Given the description of an element on the screen output the (x, y) to click on. 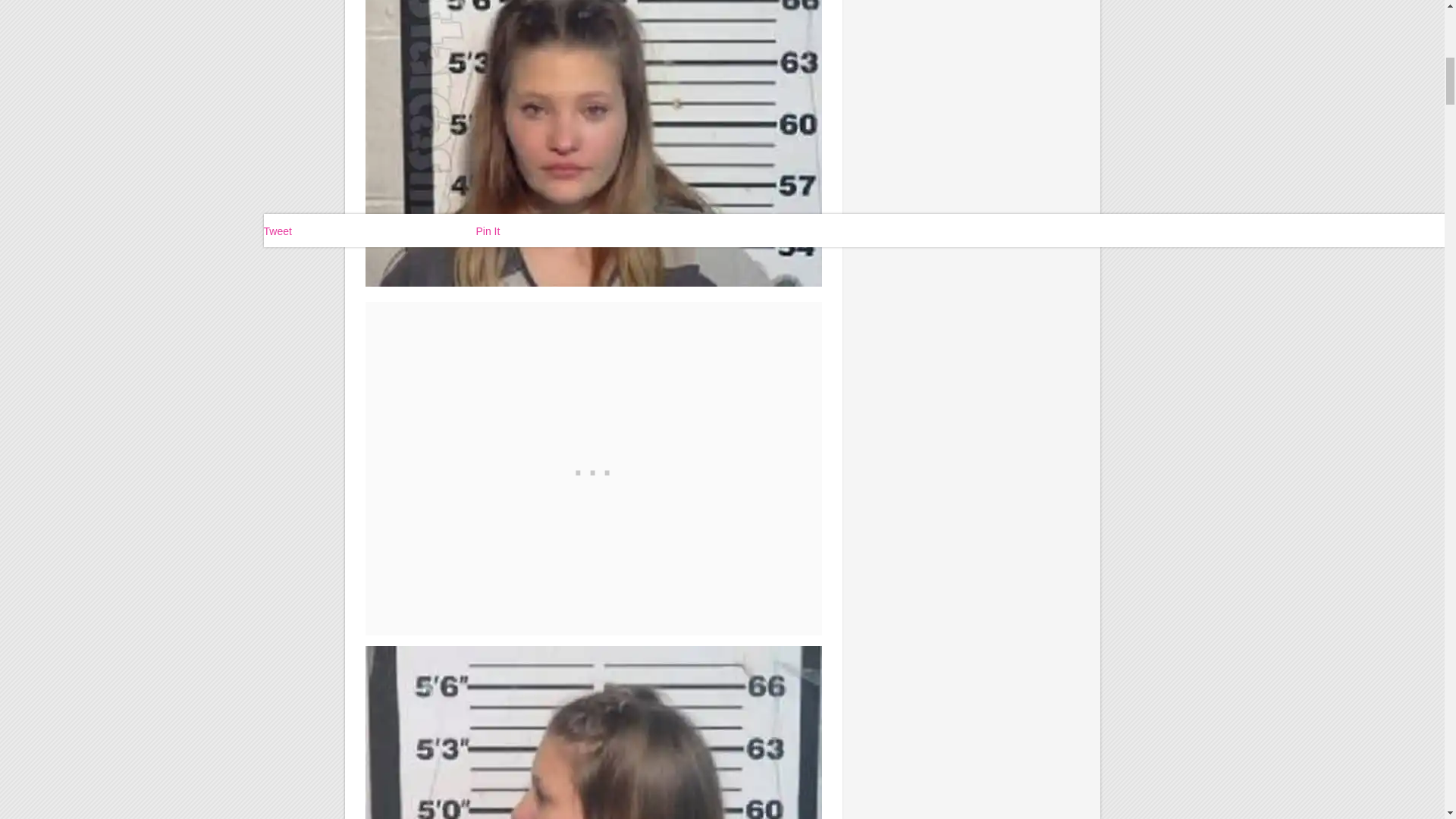
Teen Mom Mallorie Beaver arrested (593, 143)
Teen Mom Malorie Beaver arrest mug shot (593, 732)
